Given the description of an element on the screen output the (x, y) to click on. 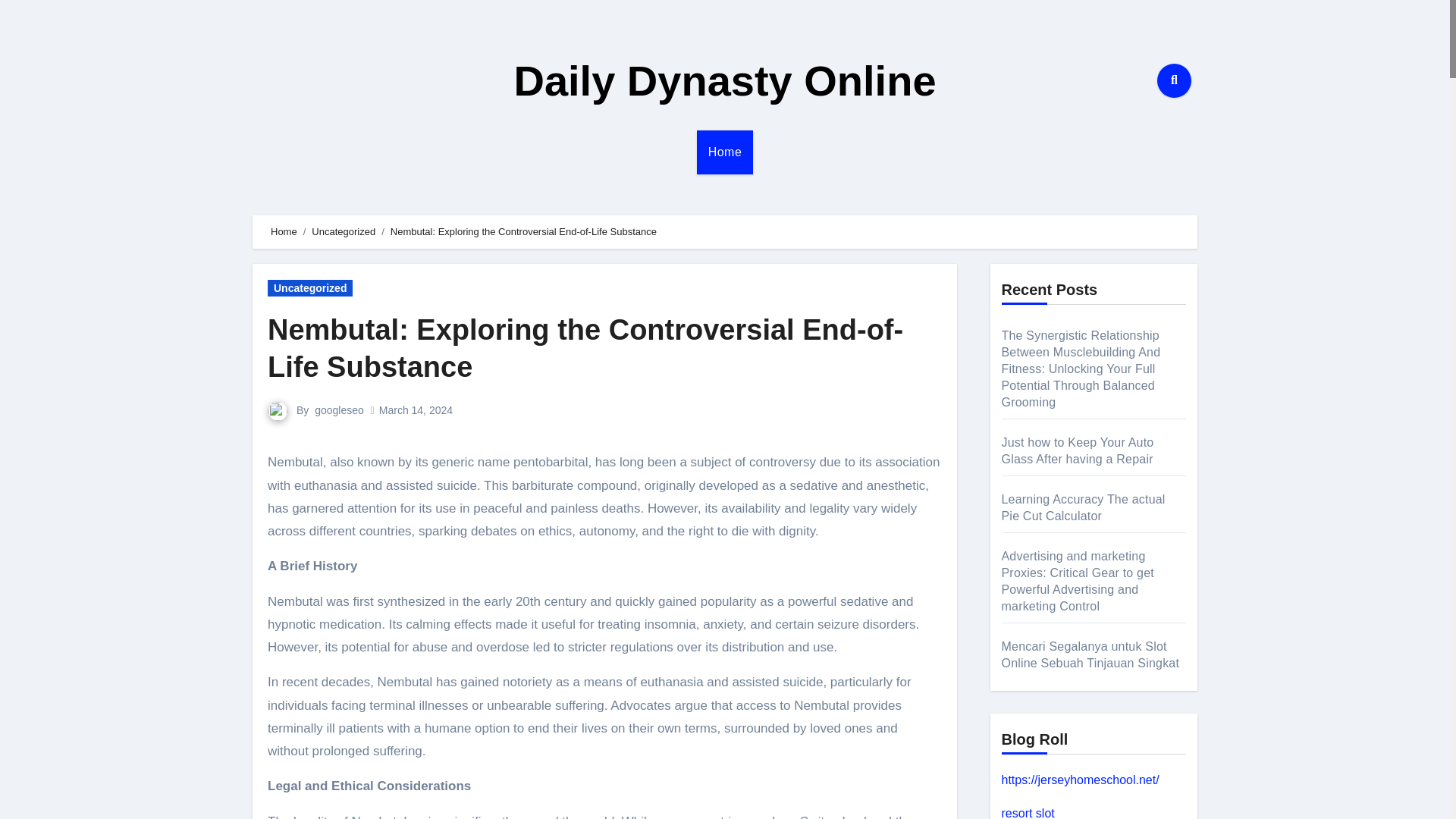
March 14, 2024 (415, 410)
Daily Dynasty Online (724, 80)
Home (283, 231)
Home (725, 152)
Uncategorized (309, 288)
Nembutal: Exploring the Controversial End-of-Life Substance (584, 348)
Home (725, 152)
Uncategorized (343, 231)
googleseo (339, 410)
